Given the description of an element on the screen output the (x, y) to click on. 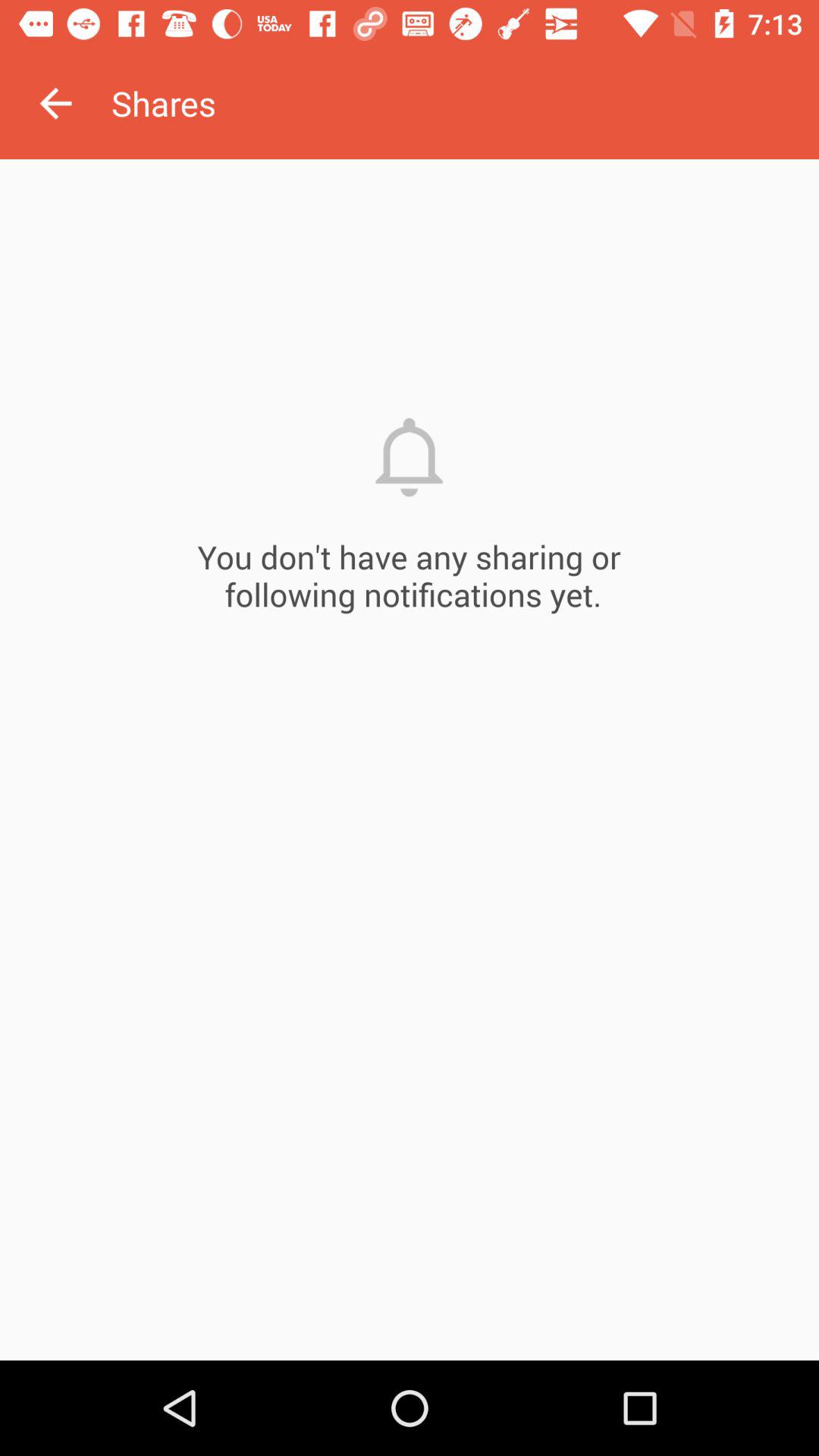
launch the item below shares item (409, 759)
